Given the description of an element on the screen output the (x, y) to click on. 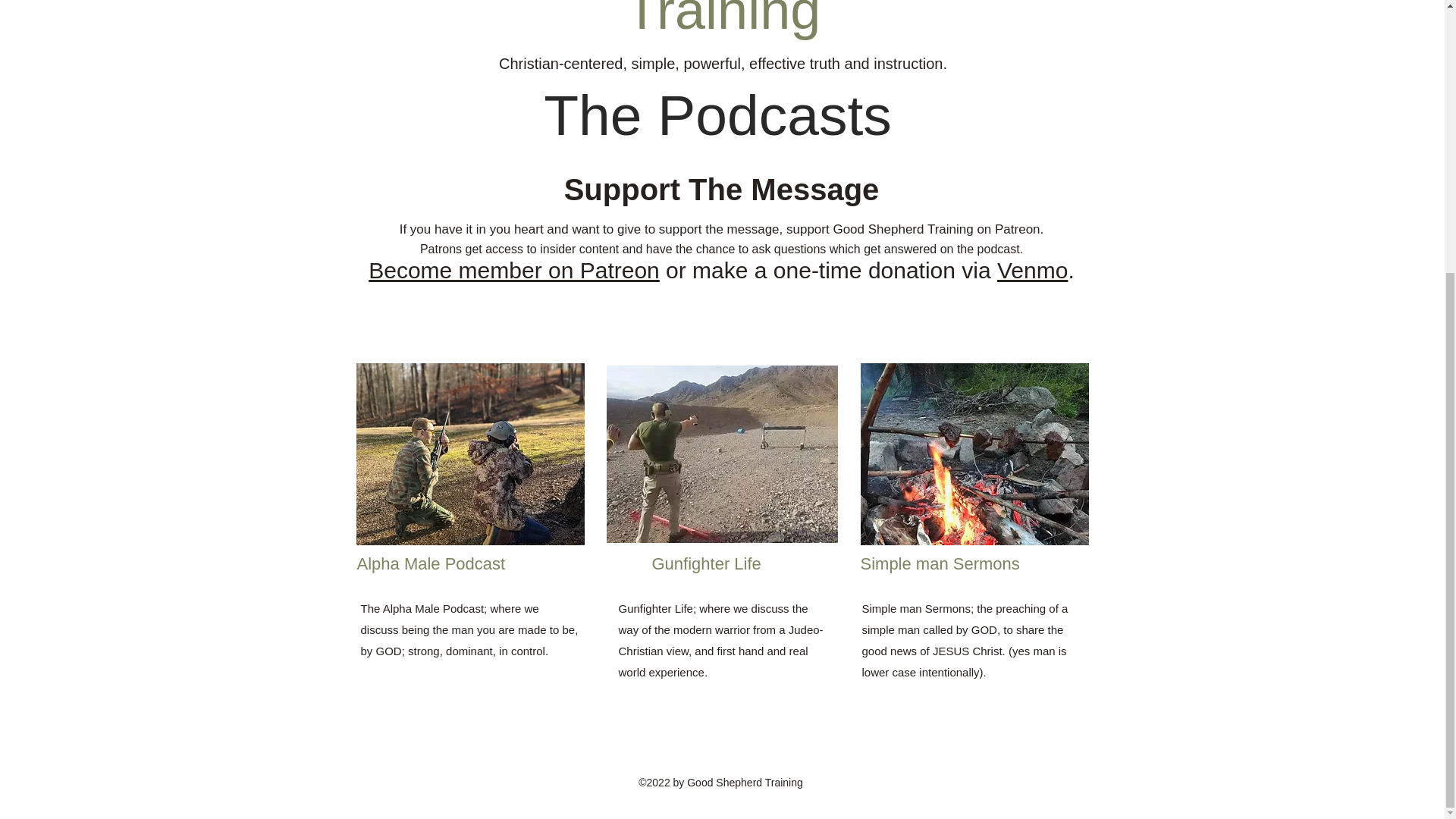
Become member on Patreon (513, 269)
Support The Message (721, 189)
Venmo (1032, 269)
